Given the description of an element on the screen output the (x, y) to click on. 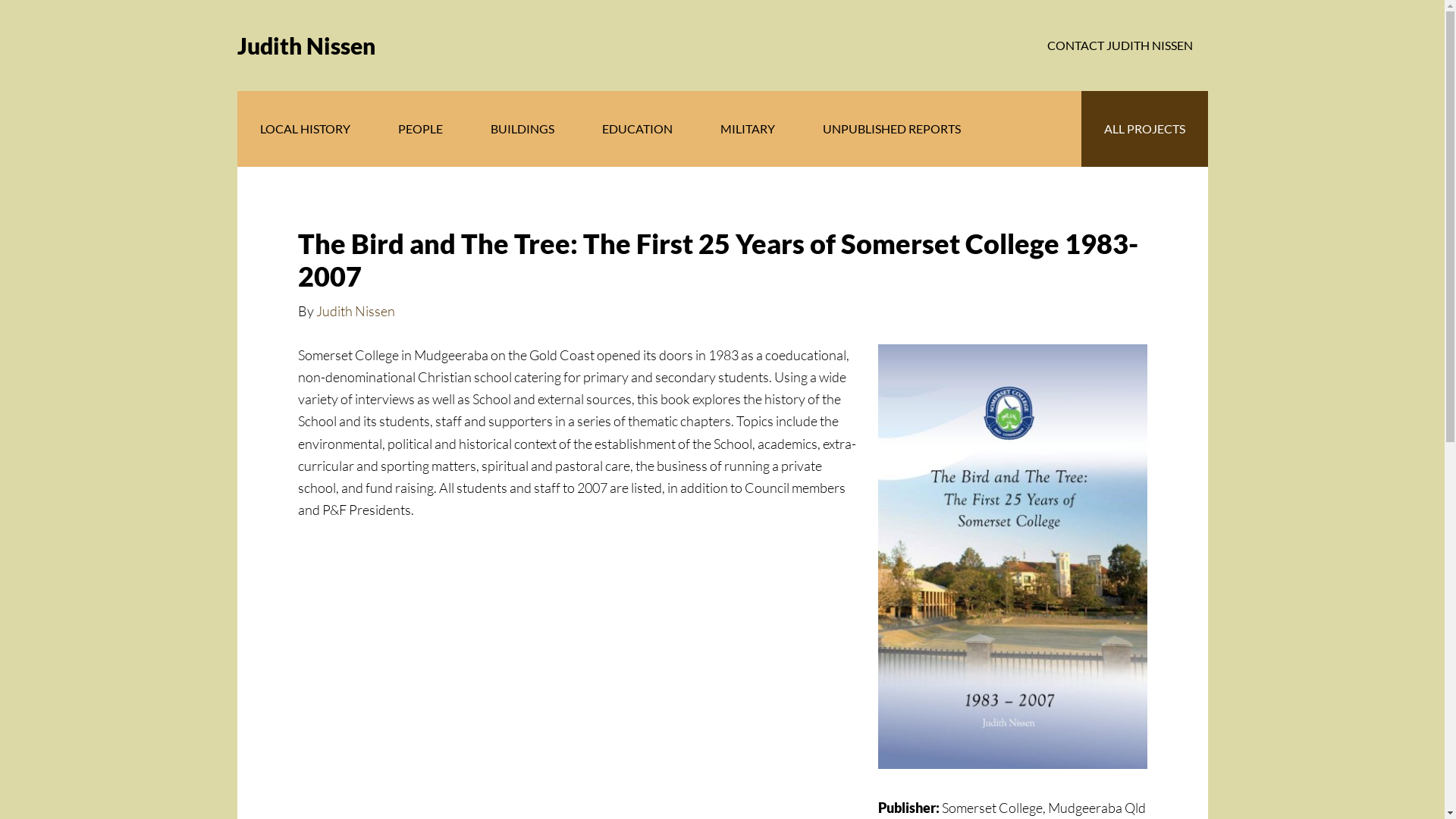
CONTACT JUDITH NISSEN Element type: text (1119, 45)
LOCAL HISTORY Element type: text (304, 128)
UNPUBLISHED REPORTS Element type: text (890, 128)
Skip to main content Element type: text (0, 0)
PEOPLE Element type: text (419, 128)
Judith Nissen Element type: text (305, 45)
Judith Nissen Element type: text (354, 310)
EDUCATION Element type: text (637, 128)
MILITARY Element type: text (747, 128)
ALL PROJECTS Element type: text (1144, 128)
BUILDINGS Element type: text (521, 128)
